Given the description of an element on the screen output the (x, y) to click on. 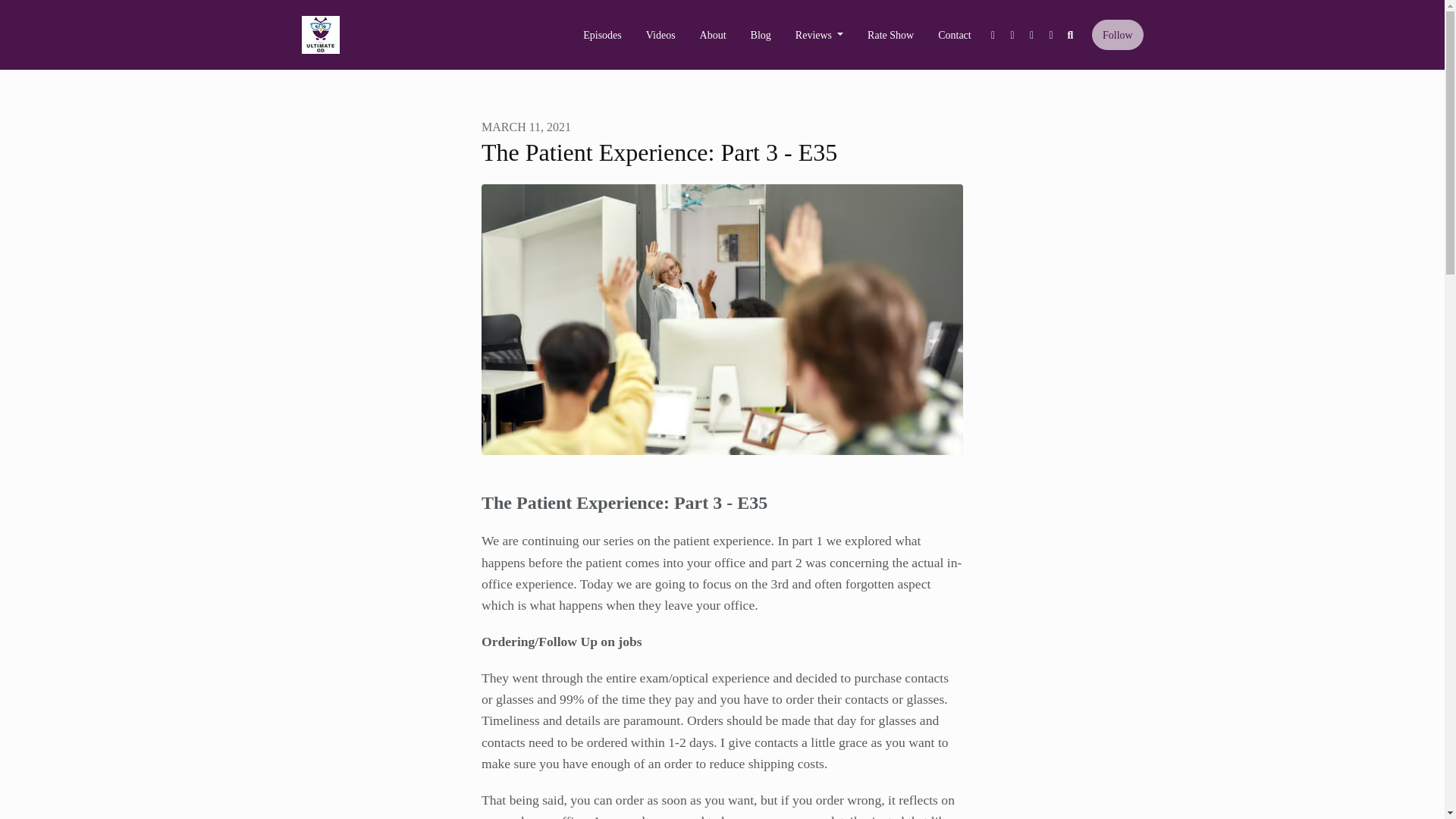
Optometry: The Ultimate O.D. (320, 34)
Blog (760, 35)
Episodes (601, 35)
About (712, 35)
Contact (955, 35)
Follow (1117, 34)
The Patient Experience: Part 3 - E35 (721, 319)
Reviews (819, 35)
Videos (660, 35)
Rate Show (891, 35)
